Given the description of an element on the screen output the (x, y) to click on. 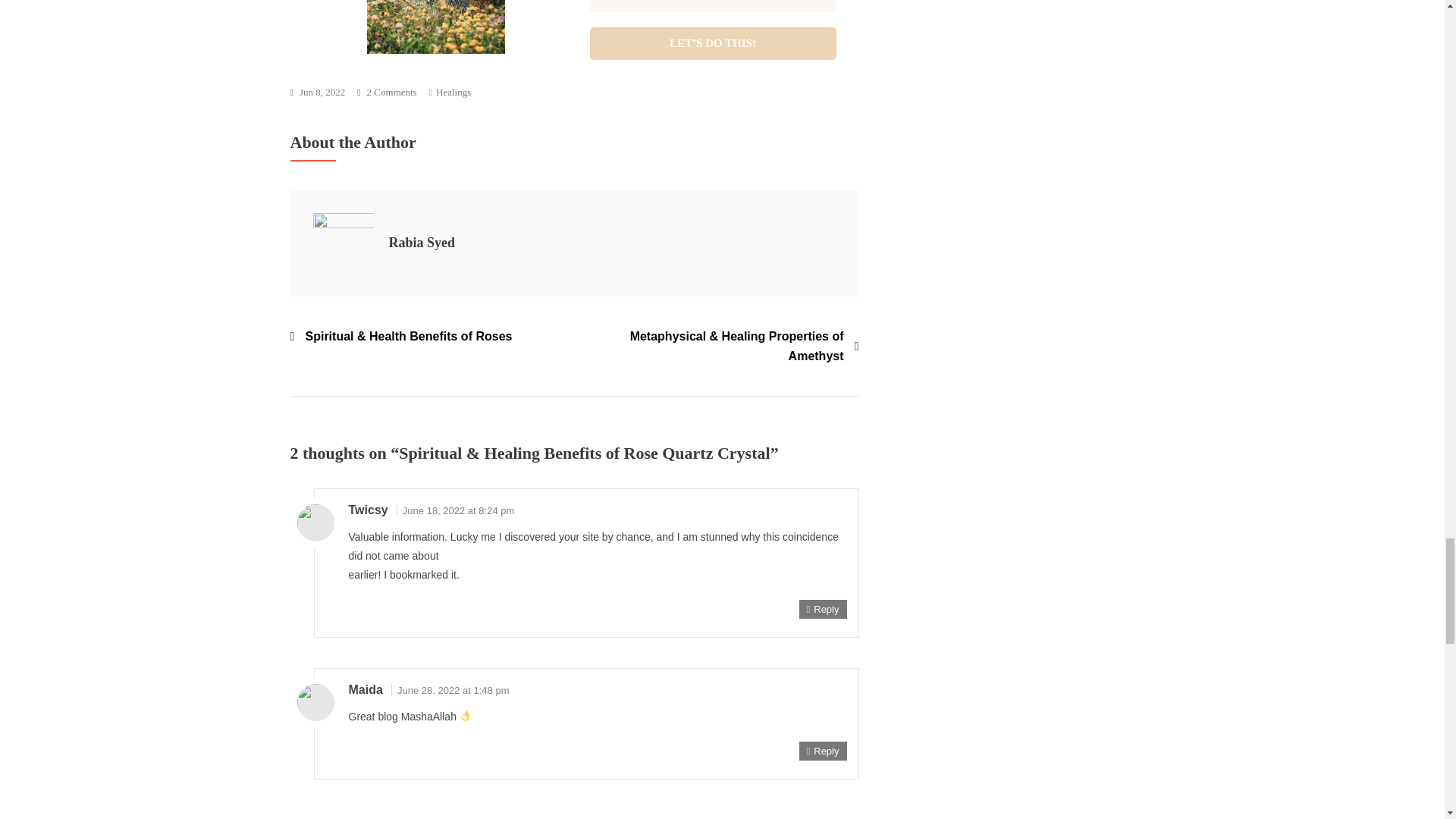
Email Address (712, 6)
